Given the description of an element on the screen output the (x, y) to click on. 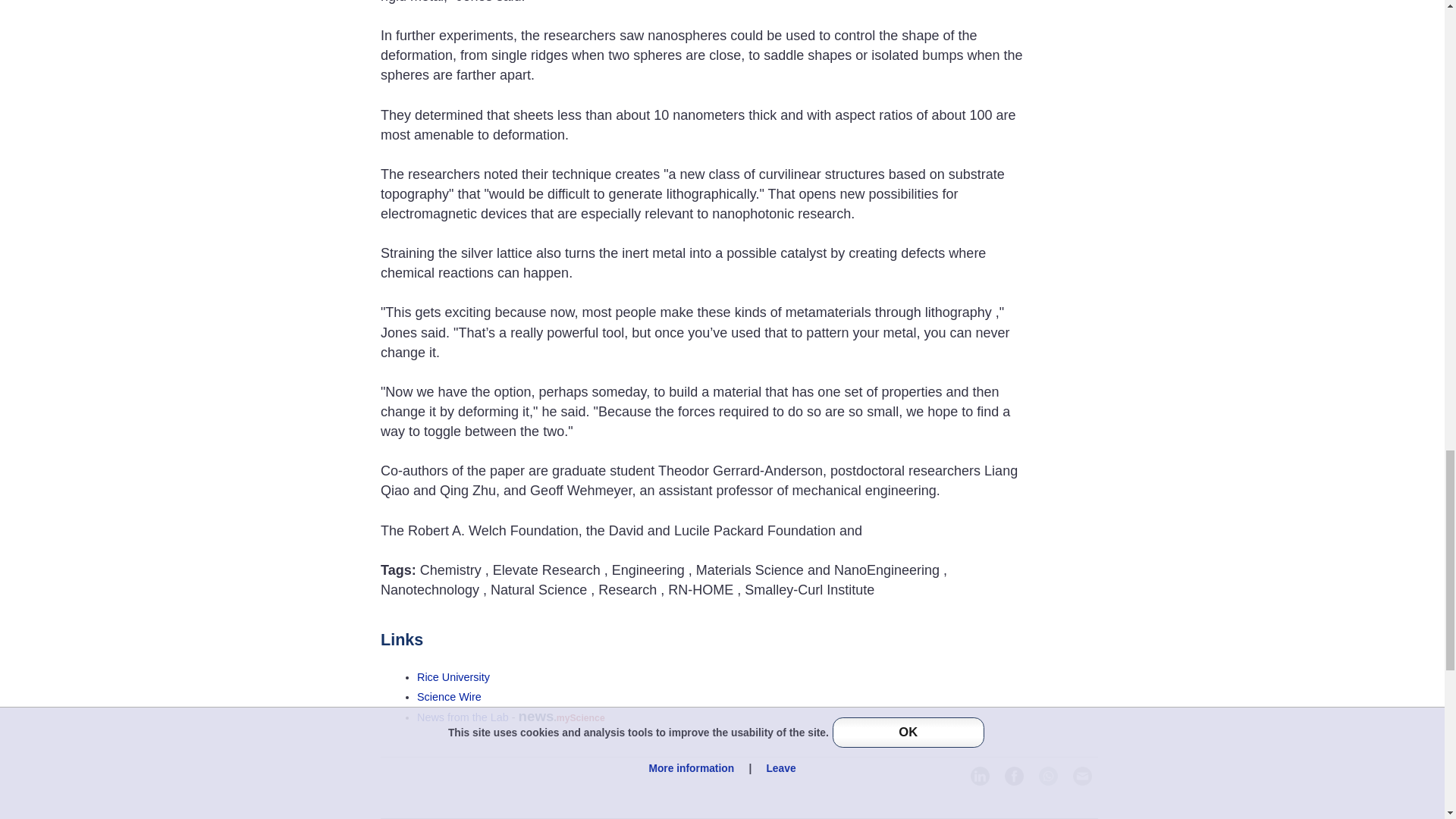
All news and press releases (448, 696)
Share on LinkedIn (980, 775)
Send by Email (1082, 775)
Share on WhatsApp Web (1047, 775)
News (462, 717)
Share on Facebook (1014, 775)
